Given the description of an element on the screen output the (x, y) to click on. 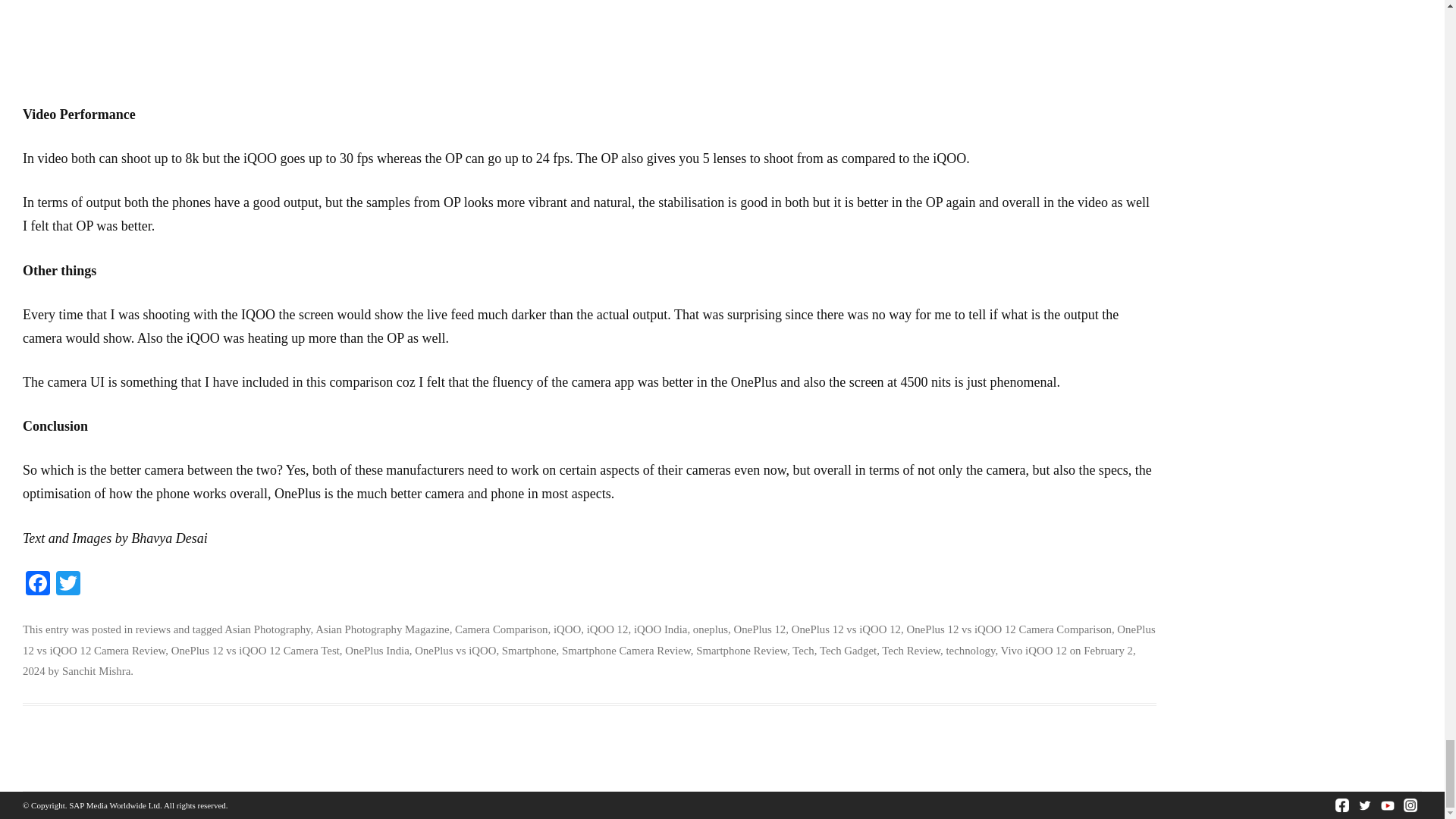
Facebook (37, 584)
View all posts by Sanchit Mishra (96, 671)
8:00 pm (579, 660)
Twitter (67, 584)
